Given the description of an element on the screen output the (x, y) to click on. 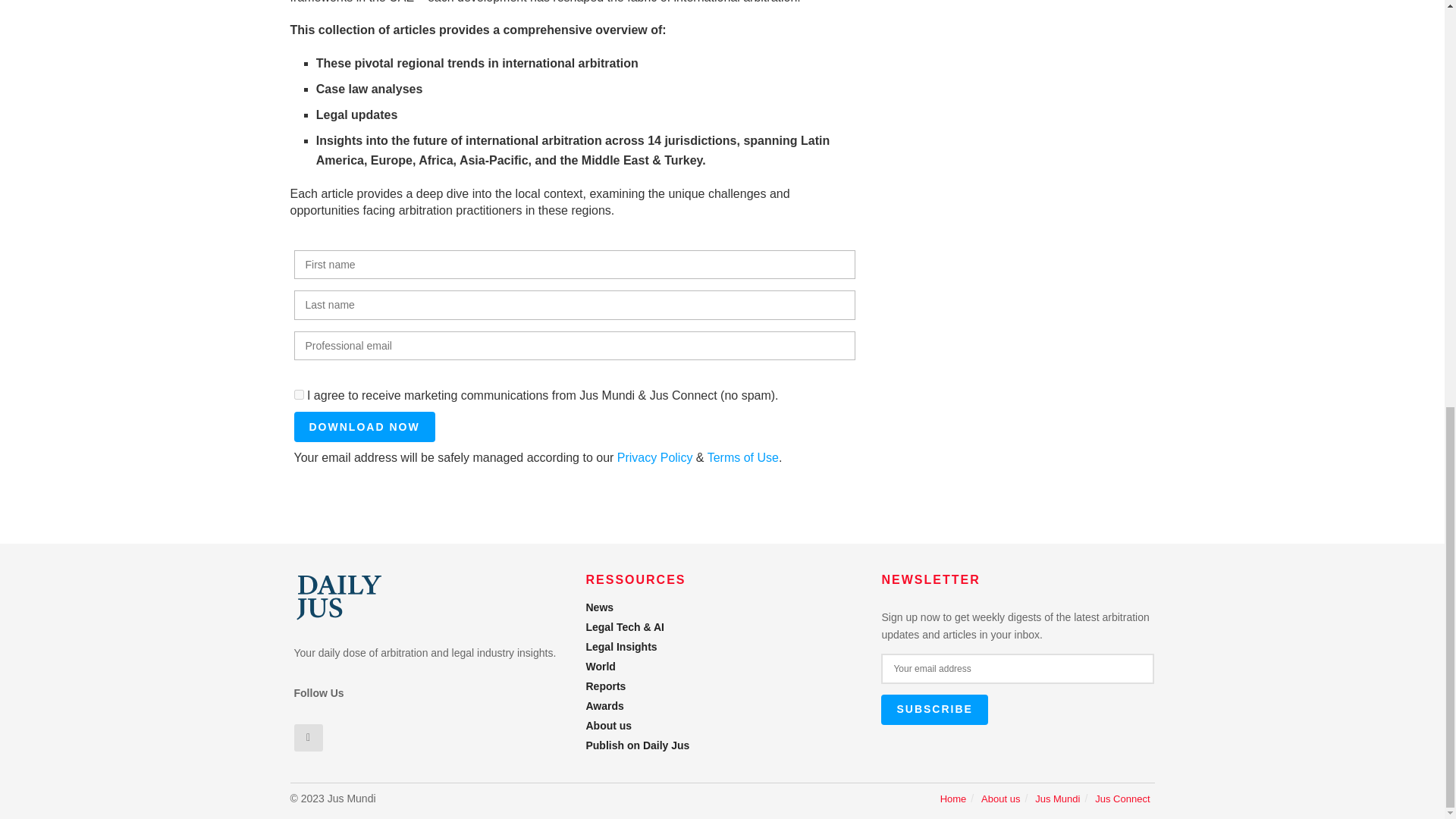
confirm (299, 394)
Subscribe (933, 709)
Download Now (364, 426)
